Given the description of an element on the screen output the (x, y) to click on. 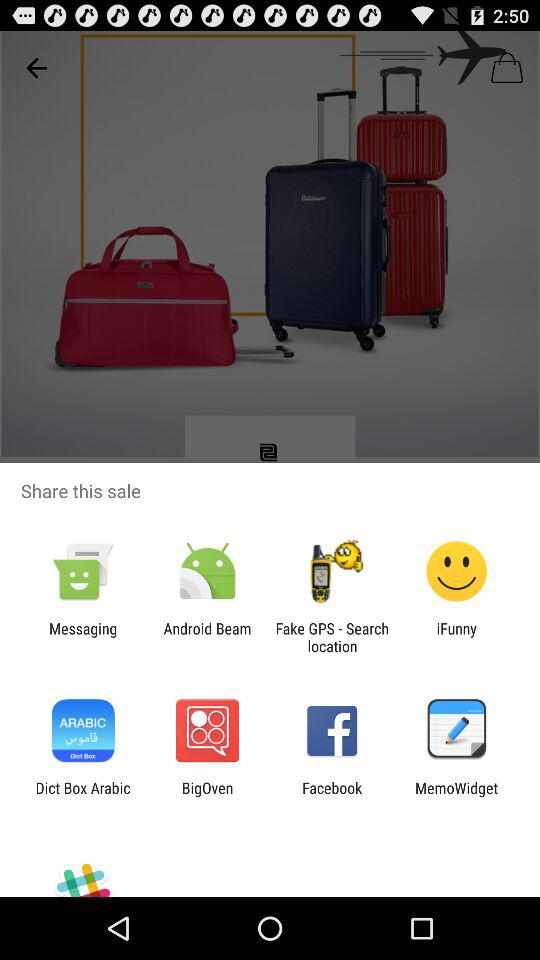
launch the item to the left of fake gps search icon (207, 637)
